Given the description of an element on the screen output the (x, y) to click on. 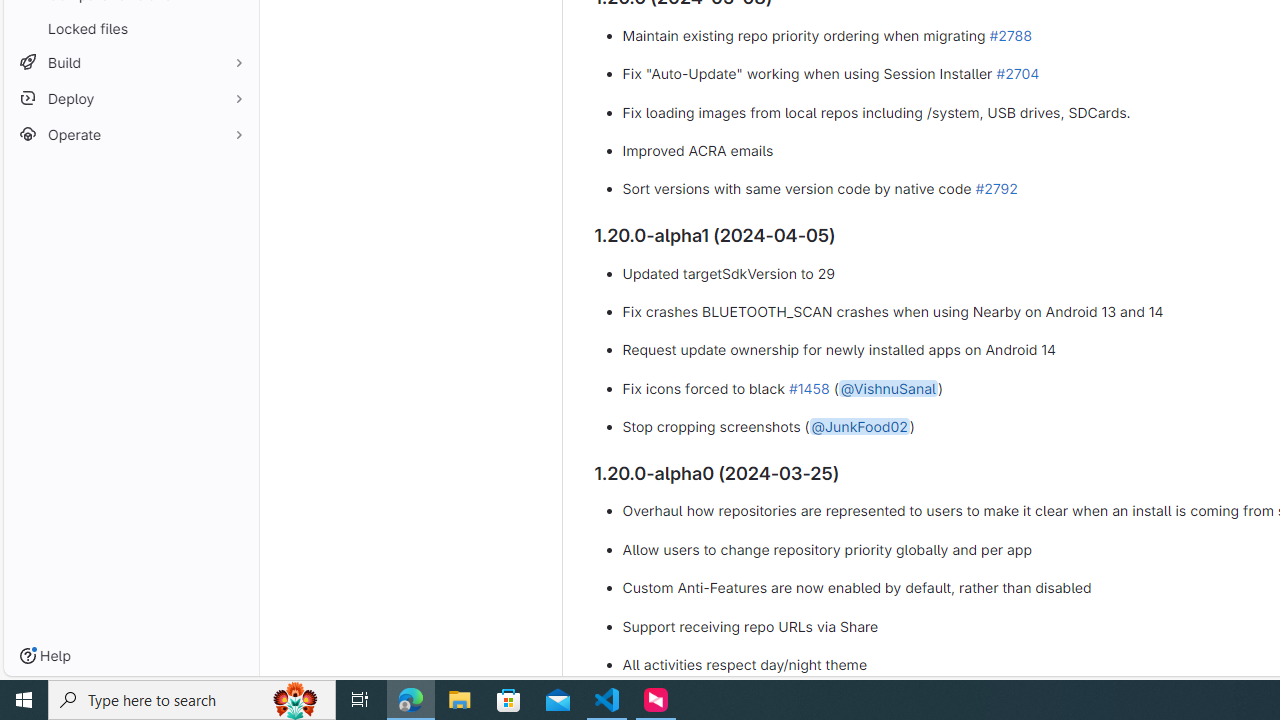
Locked files (130, 28)
#1458 (808, 387)
Deploy (130, 98)
@JunkFood02 (859, 427)
Visual Studio Code - 1 running window (607, 699)
Microsoft Store (509, 699)
Task View (359, 699)
Build (130, 62)
File Explorer (460, 699)
Operate (130, 134)
Build (130, 62)
Search highlights icon opens search home window (295, 699)
#2792 (996, 189)
Pin Locked files (234, 28)
